Given the description of an element on the screen output the (x, y) to click on. 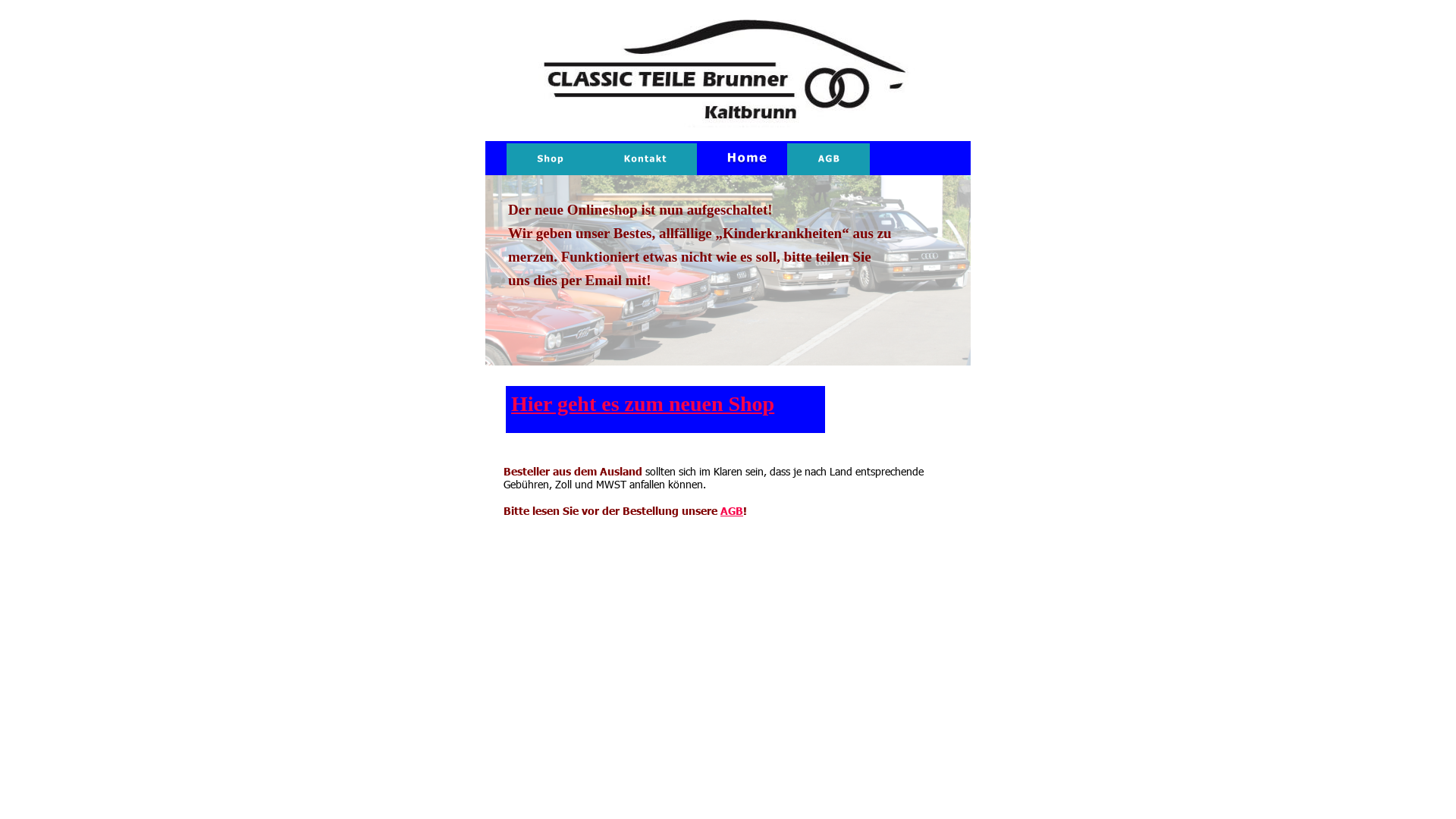
AGB Element type: text (731, 510)
Hier geht es zum neuen Shop Element type: text (642, 403)
